Given the description of an element on the screen output the (x, y) to click on. 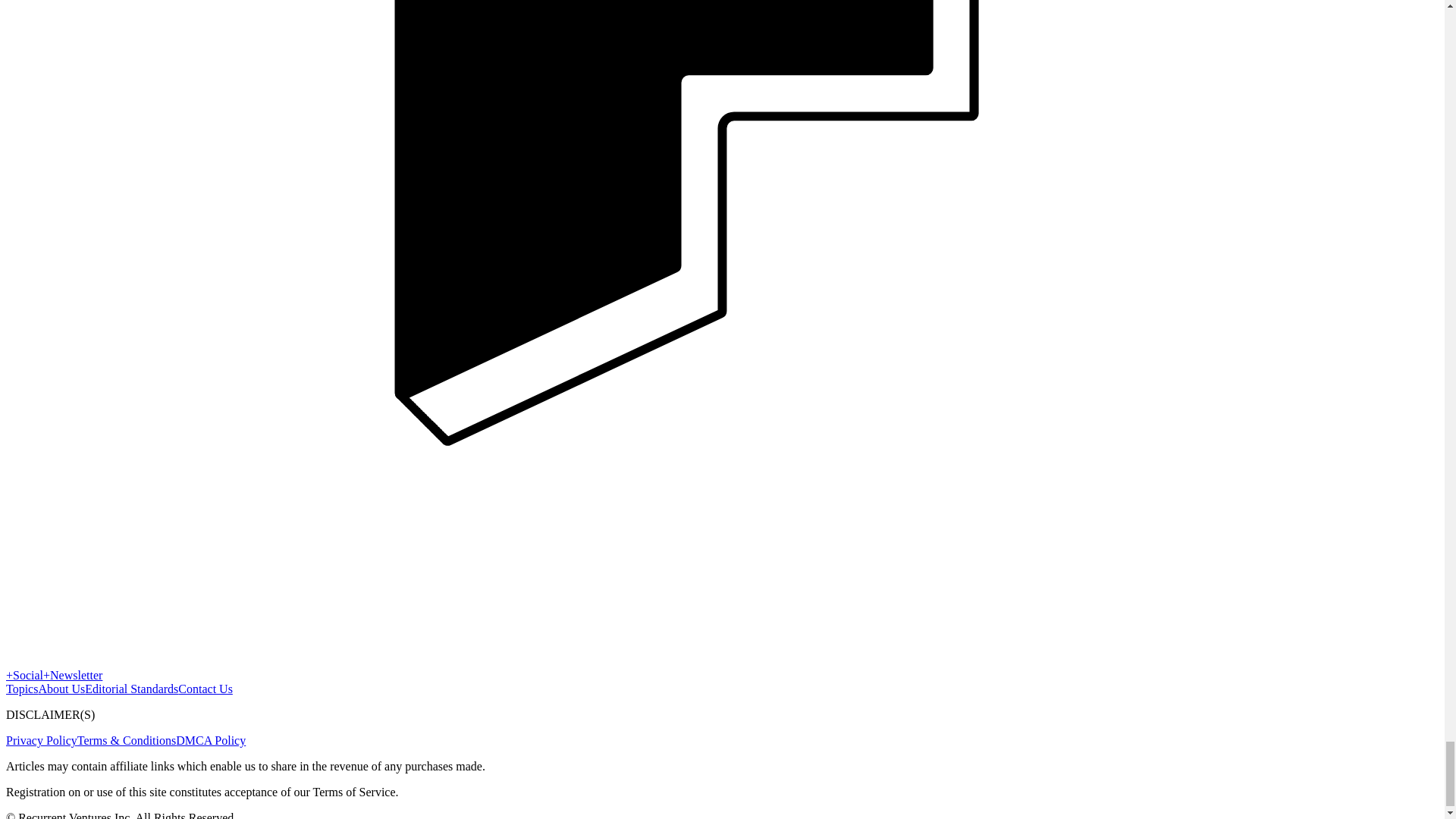
Topics (21, 688)
Contact Us (204, 688)
Privacy Policy (41, 739)
DMCA Policy (211, 739)
About Us (60, 688)
Editorial Standards (130, 688)
